Given the description of an element on the screen output the (x, y) to click on. 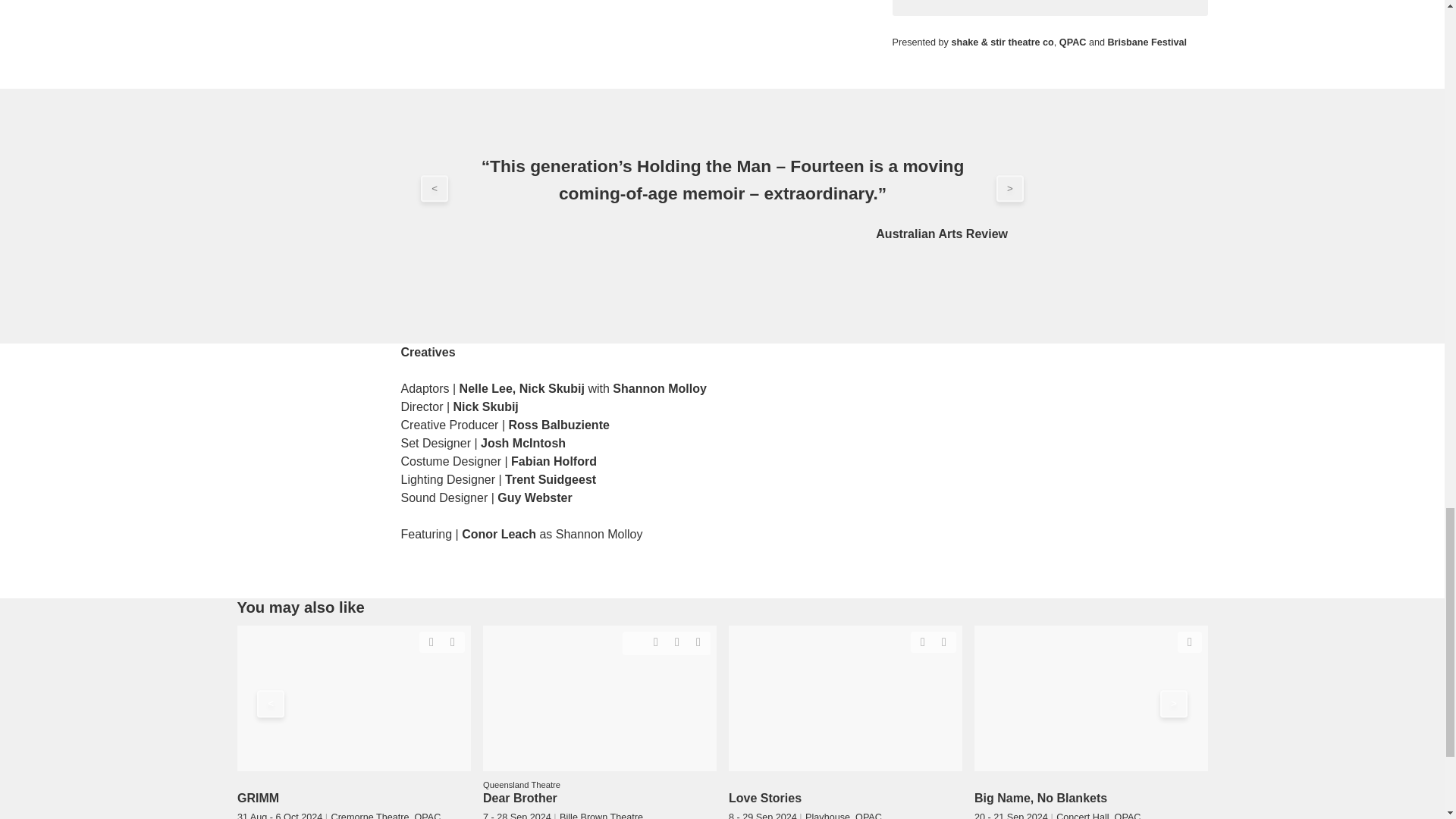
Audio Described performance available (430, 641)
Relaxed performance available (633, 639)
Auslan Interpreted performance available (451, 641)
Audio Described performance available (654, 641)
